Given the description of an element on the screen output the (x, y) to click on. 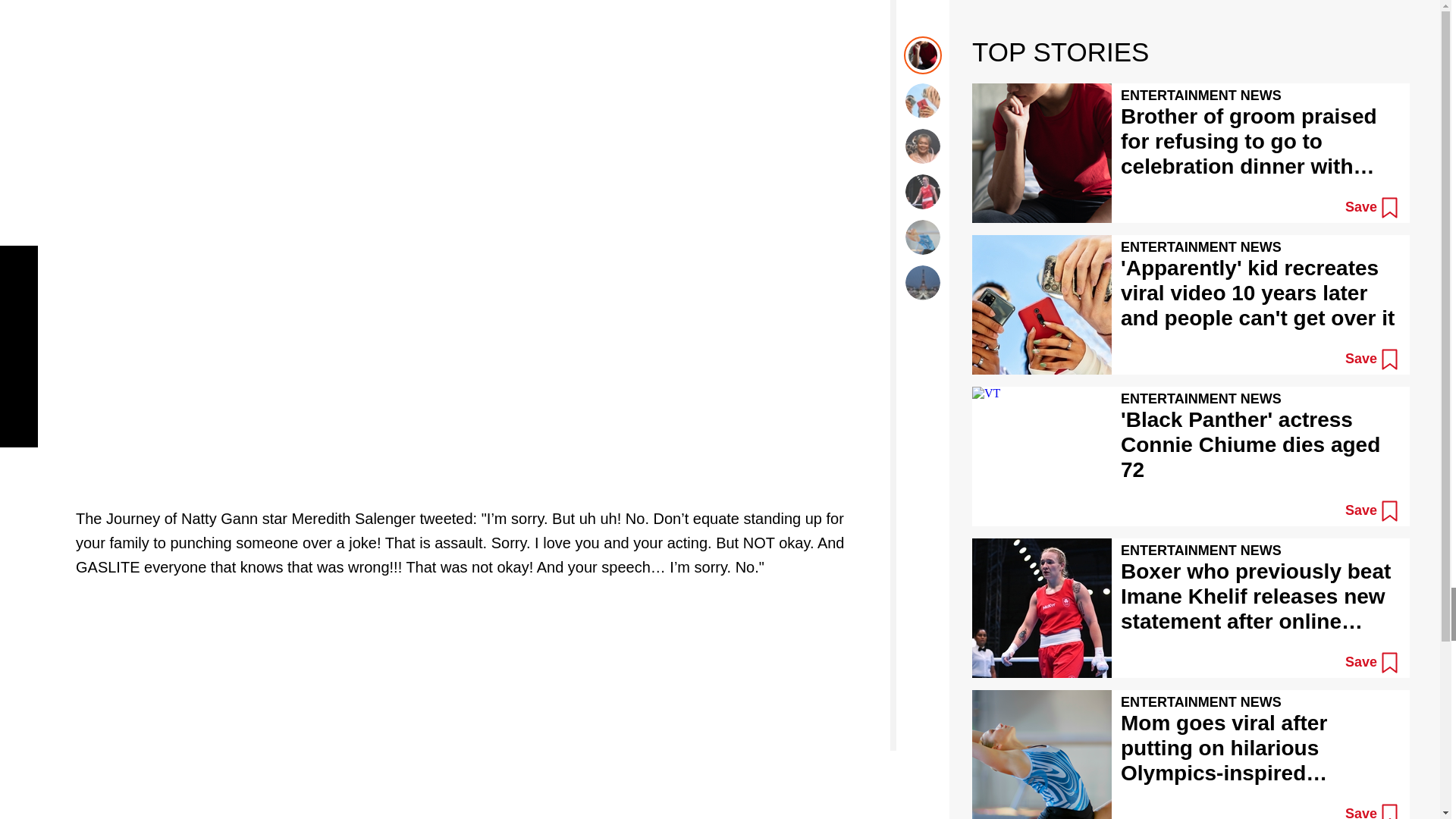
Twitter Tweet (474, 6)
